Given the description of an element on the screen output the (x, y) to click on. 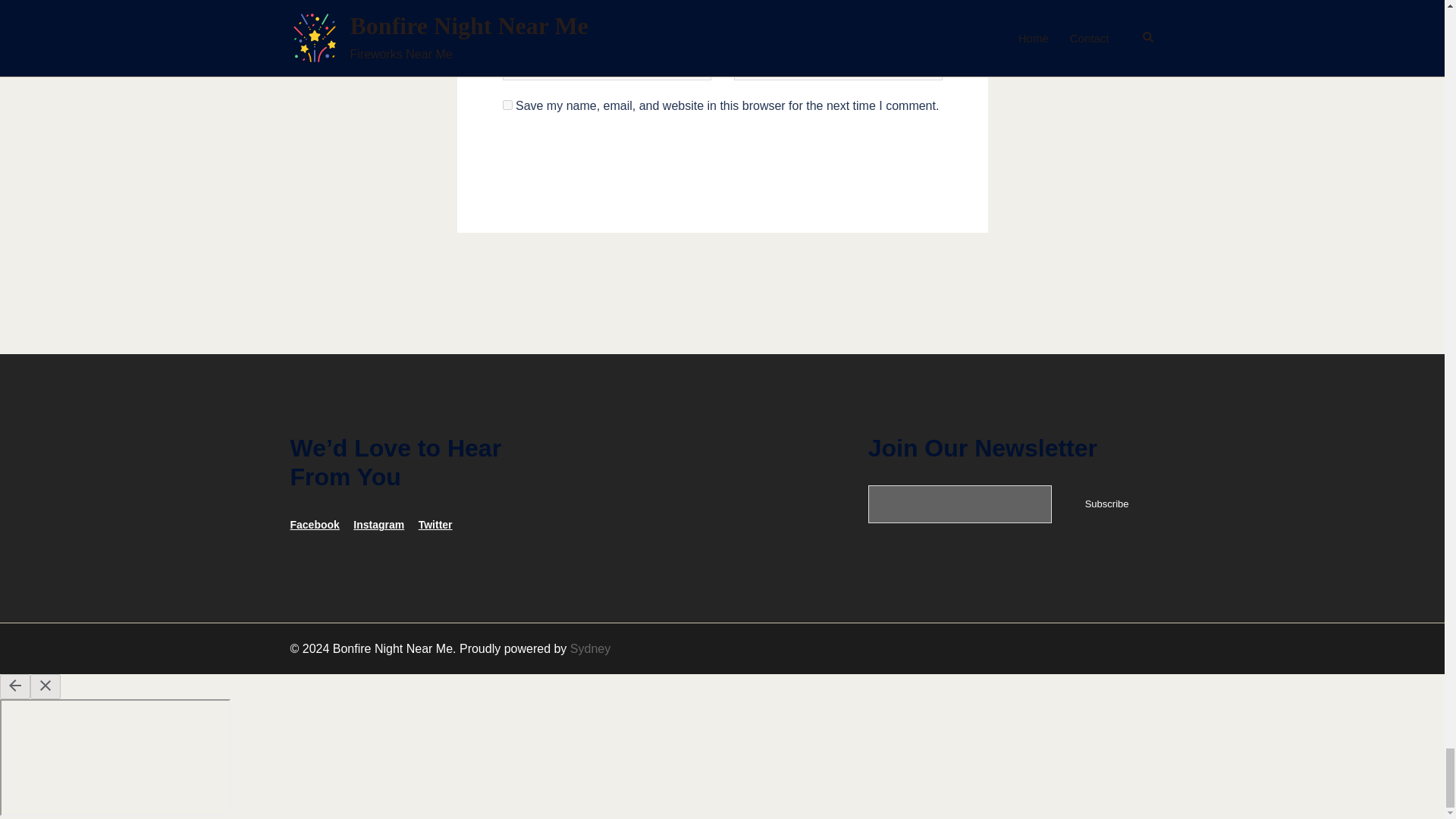
Post Comment (722, 168)
yes (507, 104)
